Given the description of an element on the screen output the (x, y) to click on. 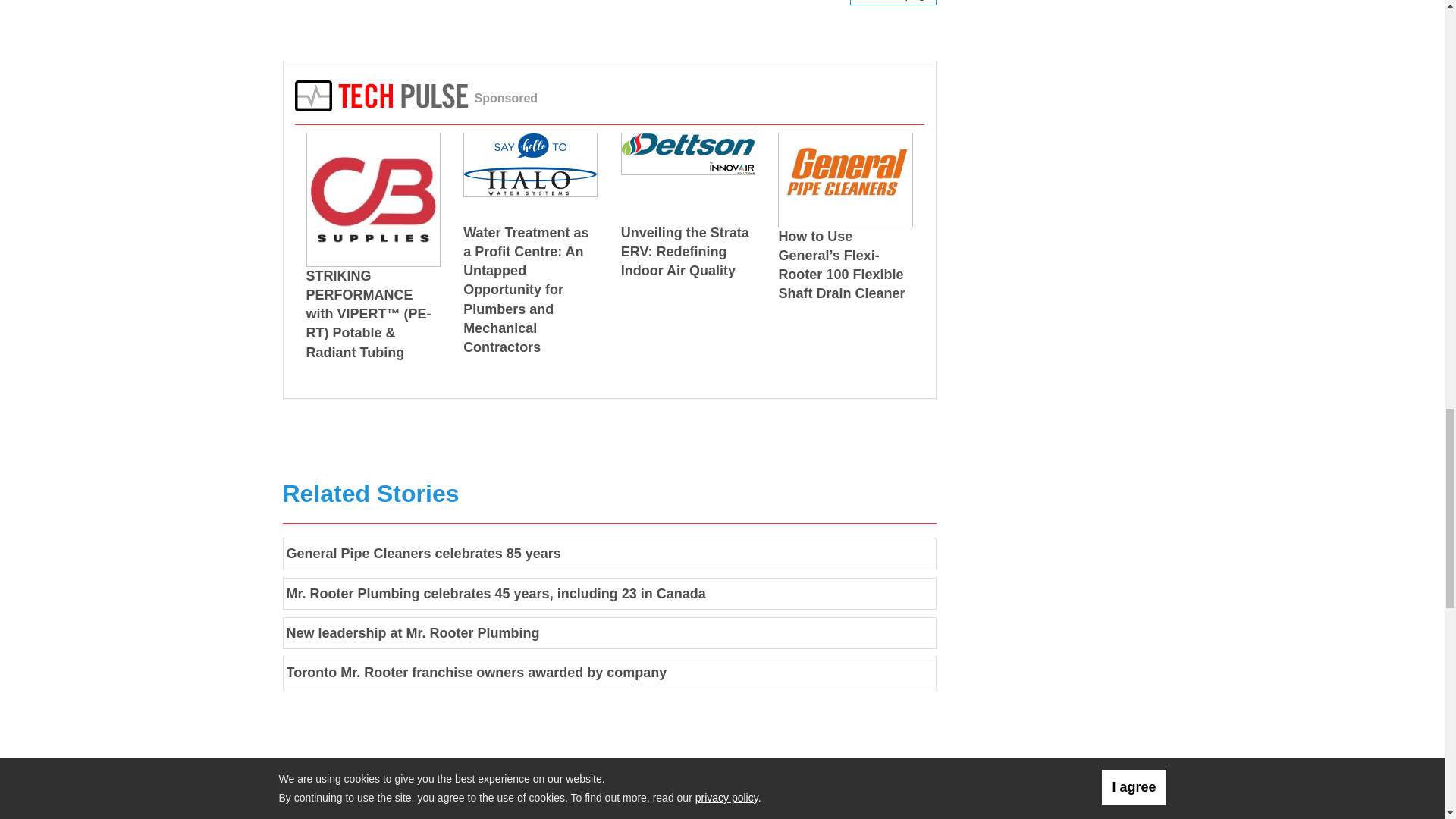
3rd party ad content (1060, 72)
